Given the description of an element on the screen output the (x, y) to click on. 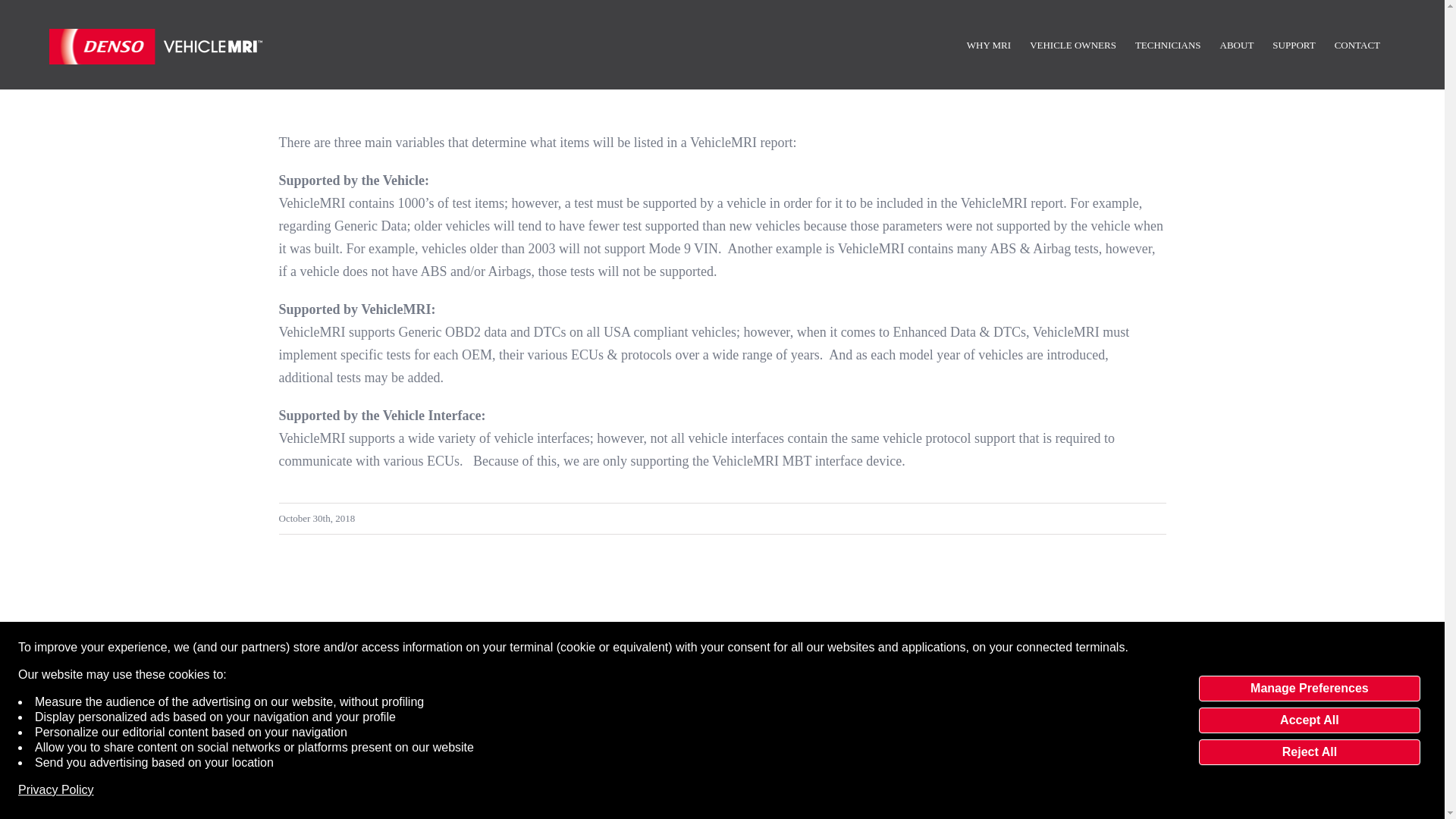
Accept All (1309, 720)
Manage Preferences (1309, 688)
ABOUT (1236, 44)
TECHNICIANS (1168, 44)
Reject All (1309, 751)
VEHICLE OWNERS (1072, 44)
WHY MRI (104, 671)
CONTACT (1357, 44)
WHY MRI (988, 44)
TECHNICIANS (246, 671)
SUPPORT (1293, 44)
VEHICLE OWNERS (171, 671)
